Given the description of an element on the screen output the (x, y) to click on. 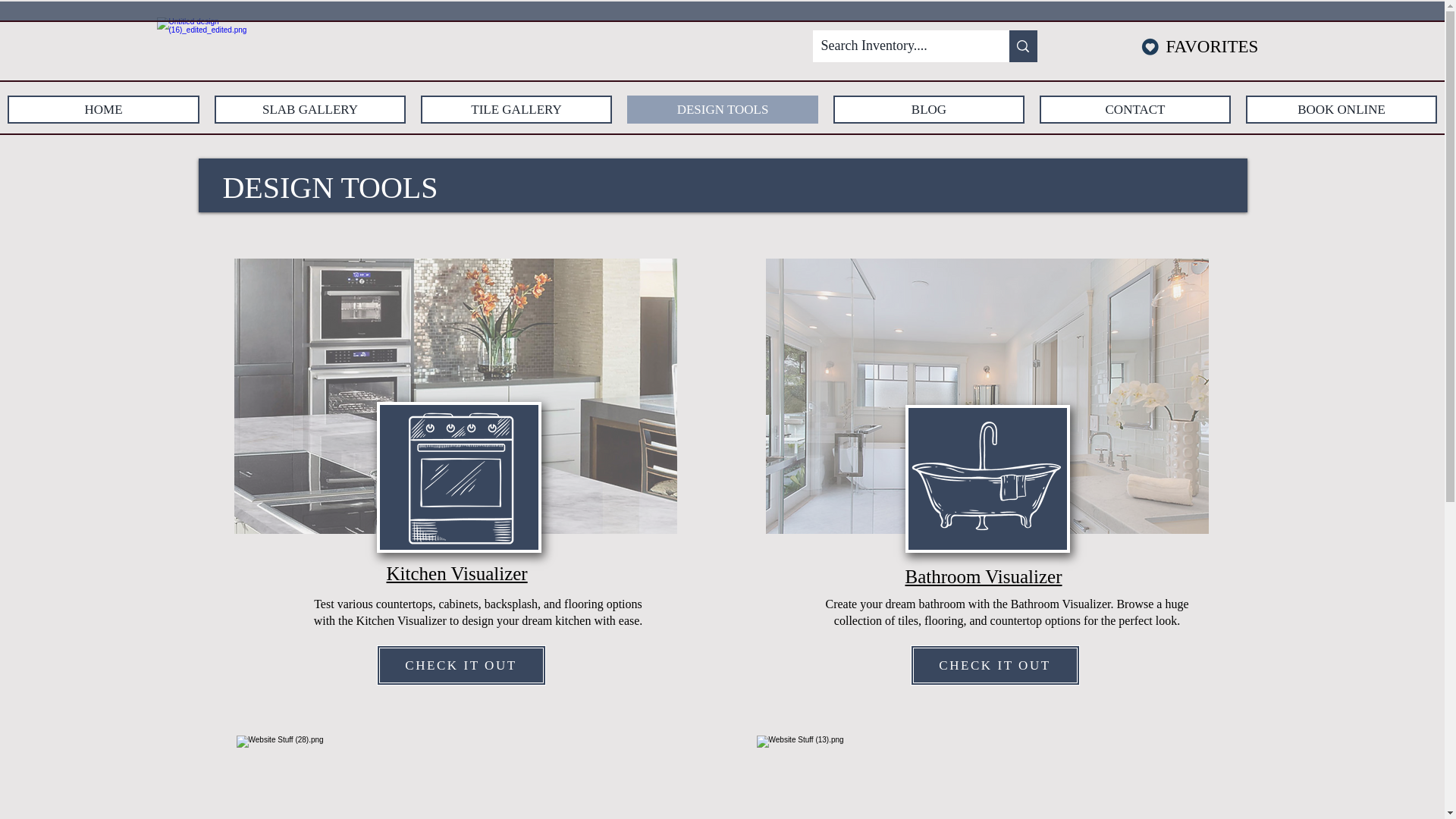
CONTACT (1134, 109)
TILE GALLERY (515, 109)
CHECK IT OUT (459, 665)
BOOK ONLINE (1341, 109)
CHECK IT OUT (994, 665)
HOME (103, 109)
SLAB GALLERY (310, 109)
DESIGN TOOLS (722, 109)
BLOG (928, 109)
